Given the description of an element on the screen output the (x, y) to click on. 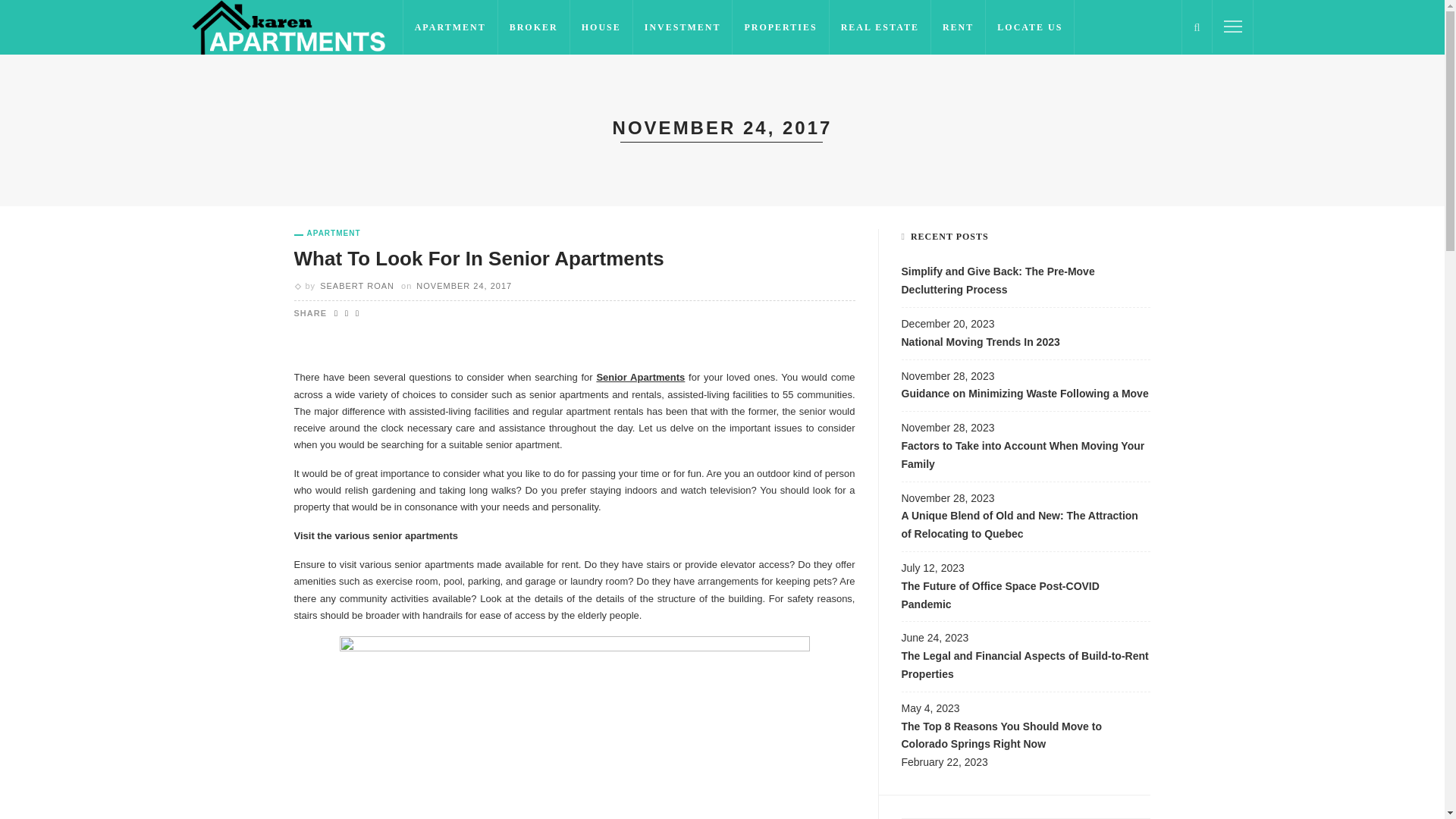
What To Look For In Senior Apartments (478, 258)
Simplify and Give Back: The Pre-Move Decluttering Process (1025, 284)
BROKER (533, 27)
APARTMENT (327, 233)
SEABERT ROAN (357, 285)
APARTMENT (450, 27)
PROPERTIES (780, 27)
National Moving Trends In 2023 (1025, 346)
INVESTMENT (683, 27)
